Given the description of an element on the screen output the (x, y) to click on. 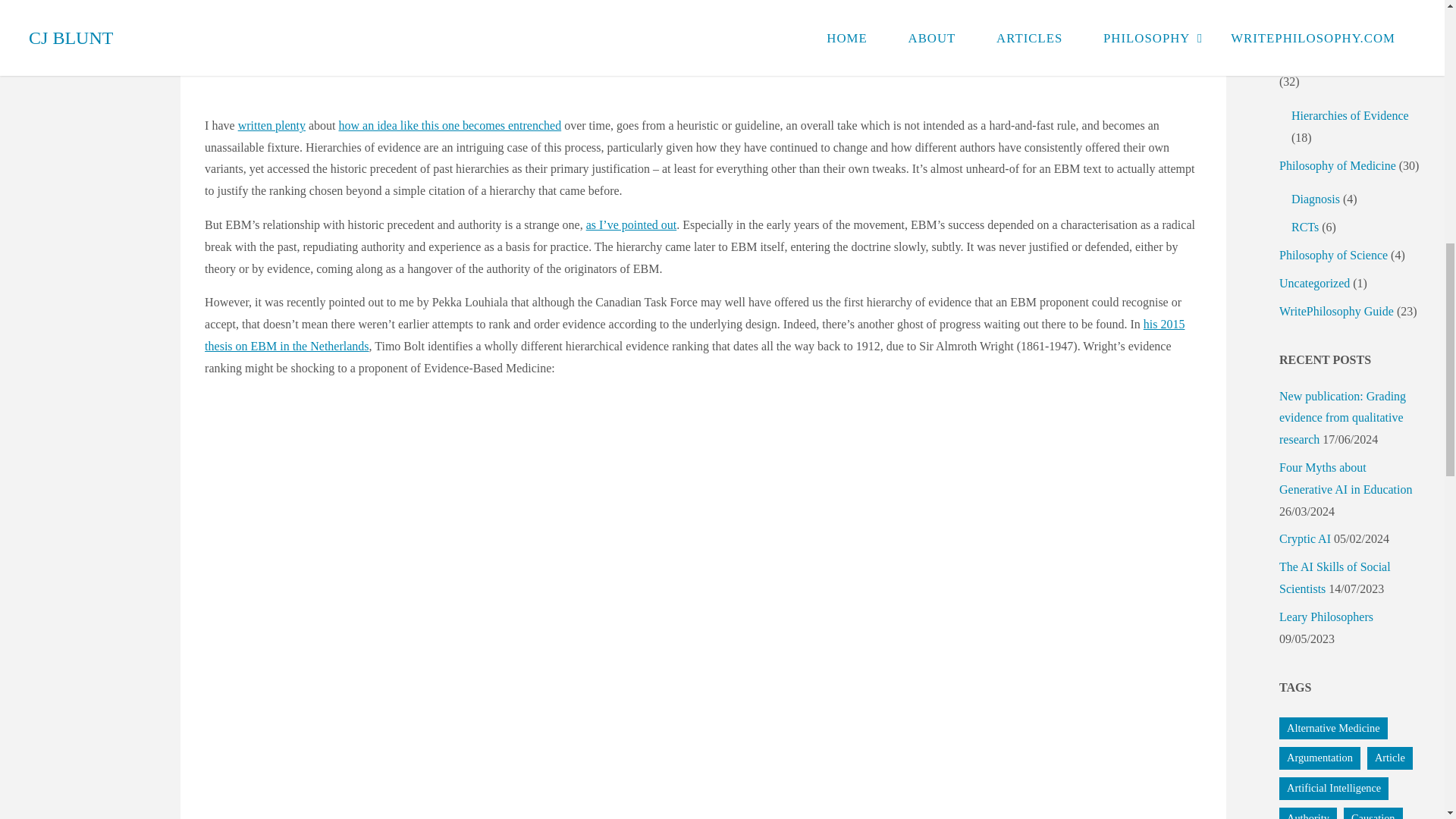
his 2015 thesis on EBM in the Netherlands (695, 334)
how an idea like this one becomes entrenched (448, 124)
written plenty (271, 124)
